Given the description of an element on the screen output the (x, y) to click on. 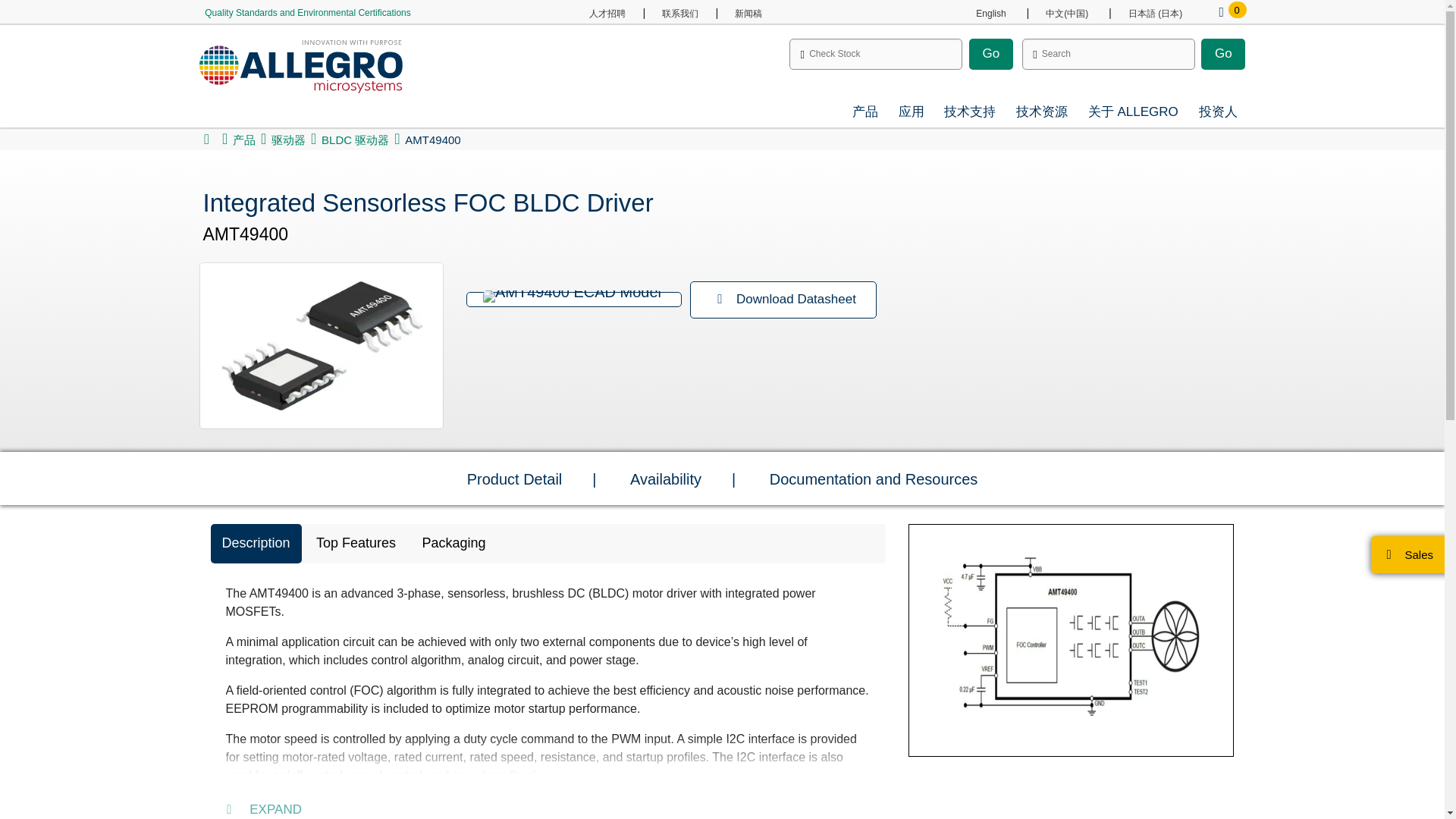
0 (1220, 12)
Quality Standards and Environmental Certifications (306, 12)
home (206, 139)
Go (1222, 53)
English : English (990, 13)
English (990, 13)
Go (991, 53)
